Given the description of an element on the screen output the (x, y) to click on. 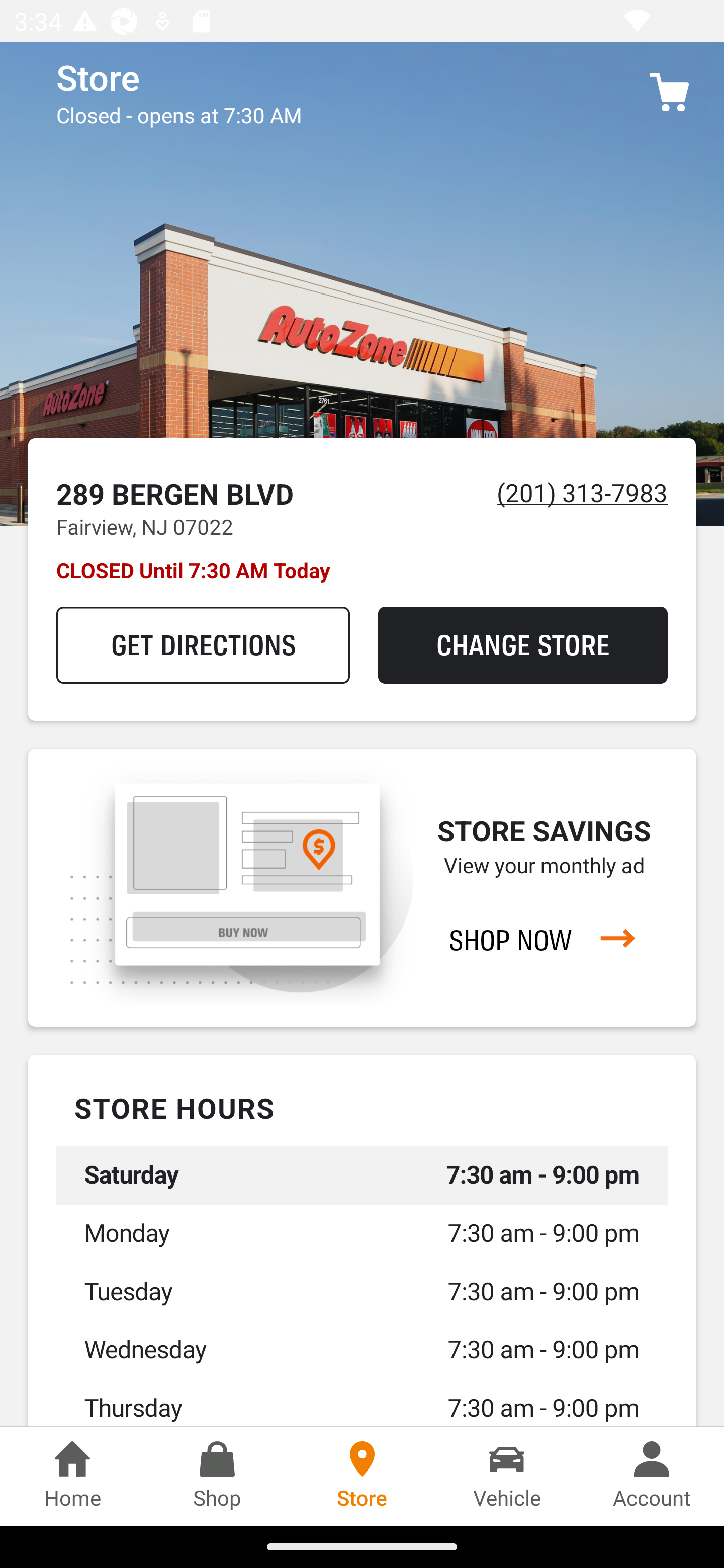
Get Directions GET DIRECTIONS (202, 644)
Change Selected Store CHANGE STORE (522, 644)
Home (72, 1475)
Shop (216, 1475)
Store (361, 1475)
Vehicle (506, 1475)
Account (651, 1475)
